Given the description of an element on the screen output the (x, y) to click on. 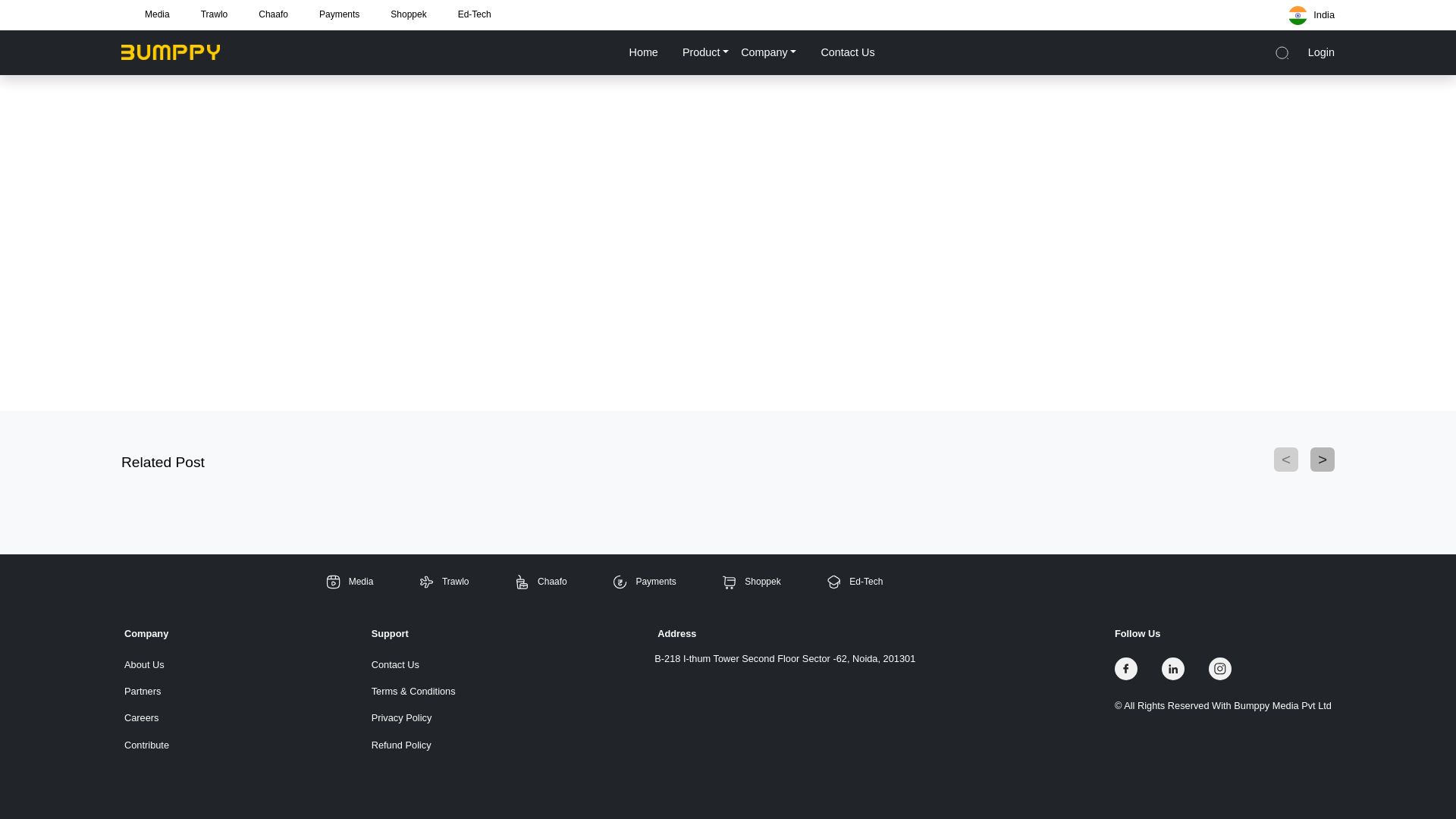
B-218 I-thum Tower Second Floor Sector -62, Noida, 201301 (784, 658)
Privacy Policy (413, 717)
Careers (145, 717)
Contribute (145, 745)
Refund Policy (413, 745)
About Us (145, 664)
Partners (145, 691)
Contact Us (413, 664)
